Given the description of an element on the screen output the (x, y) to click on. 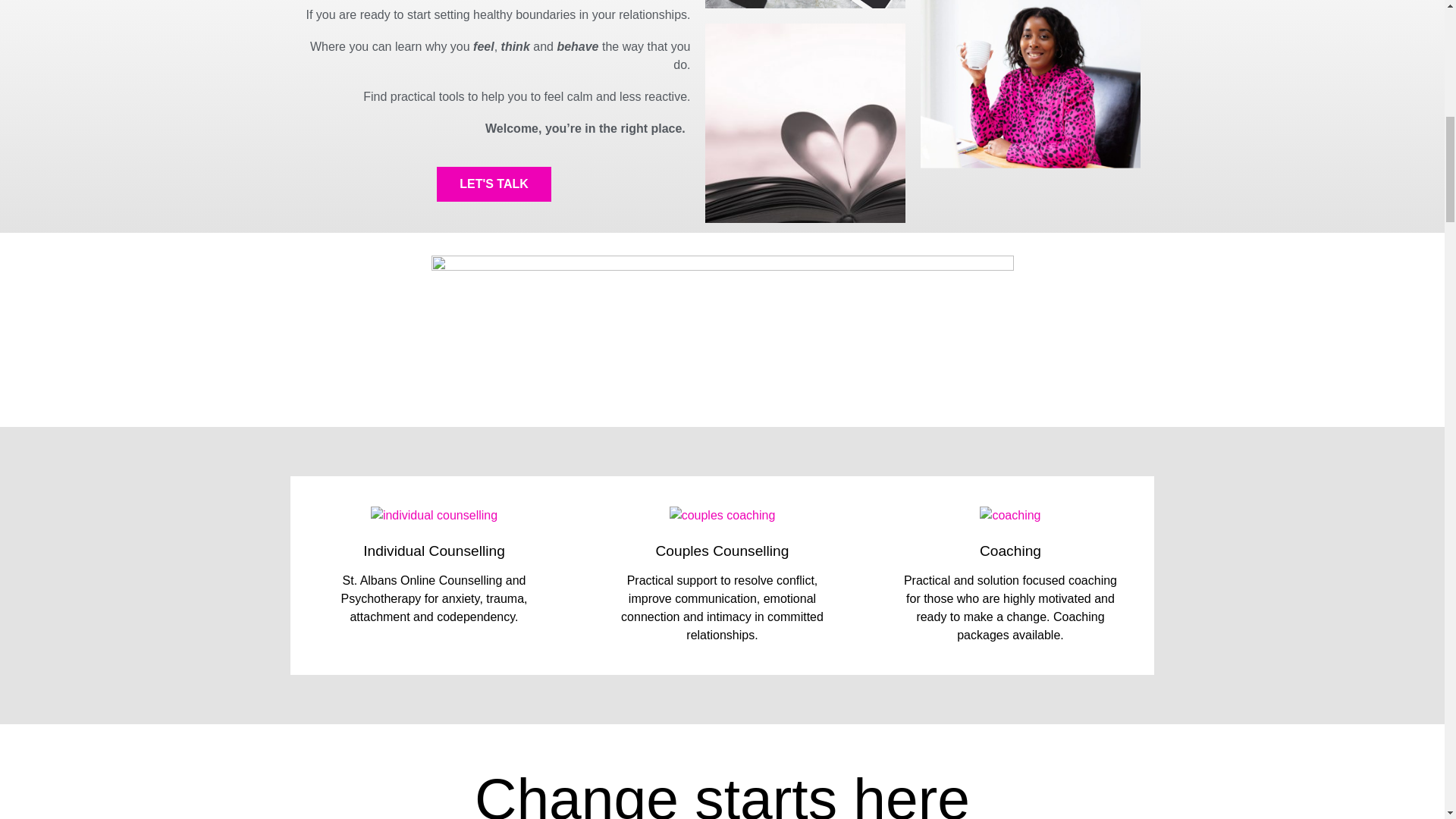
Individual Counselling (433, 550)
LET'S TALK (493, 184)
Coaching (1010, 550)
Couples Counselling (722, 550)
